Given the description of an element on the screen output the (x, y) to click on. 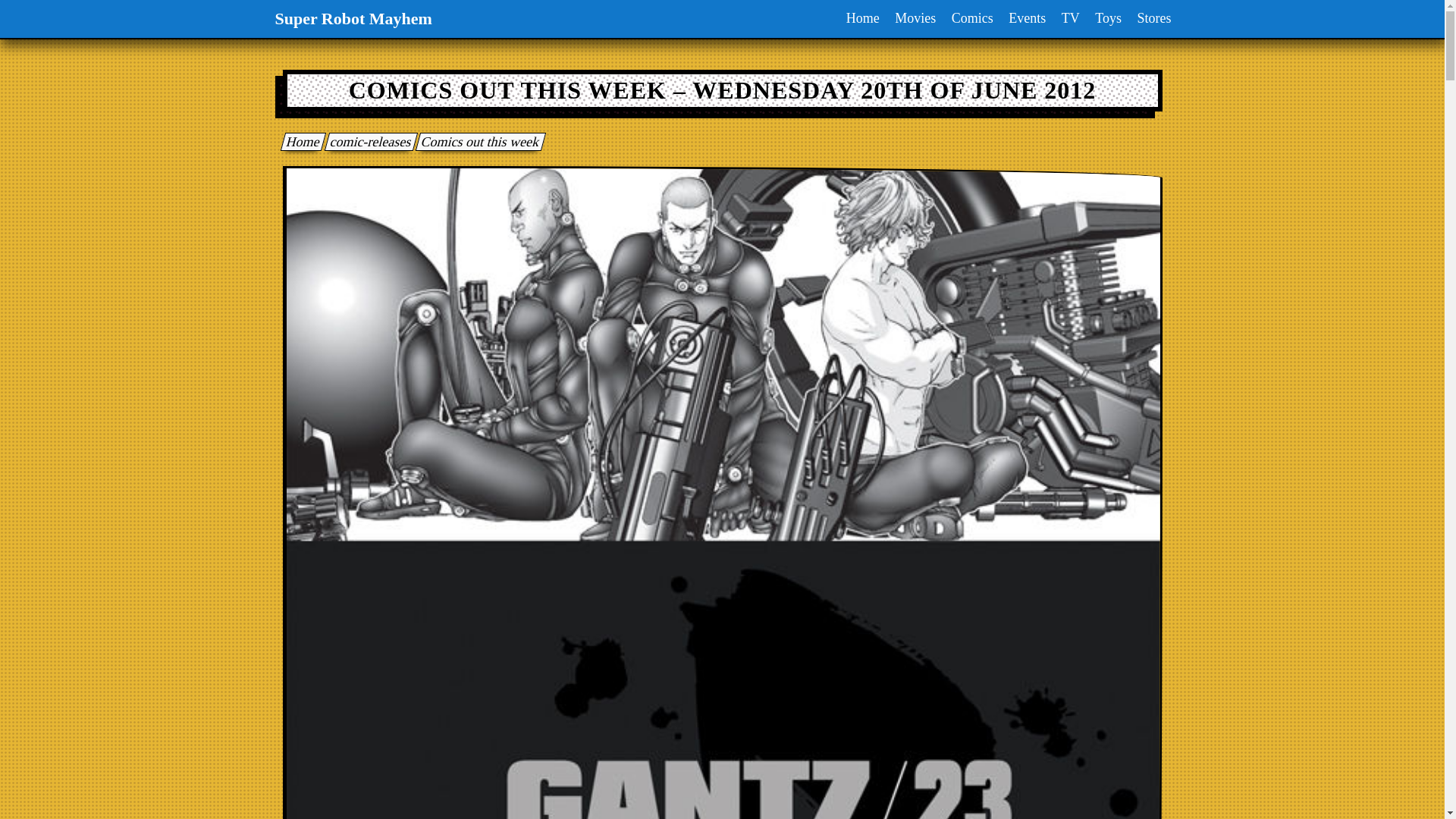
Super Robot Mayhem (299, 141)
Super Robot Mayhem (352, 18)
comic-releases (367, 141)
Comics out this week (477, 141)
Home (862, 18)
comic-releases (367, 141)
Movies (915, 18)
Toys (1107, 18)
Super Robot Mayhem (352, 18)
Events (1027, 18)
Comics (971, 18)
Home (299, 141)
TV (1070, 18)
Stores (1154, 18)
